Given the description of an element on the screen output the (x, y) to click on. 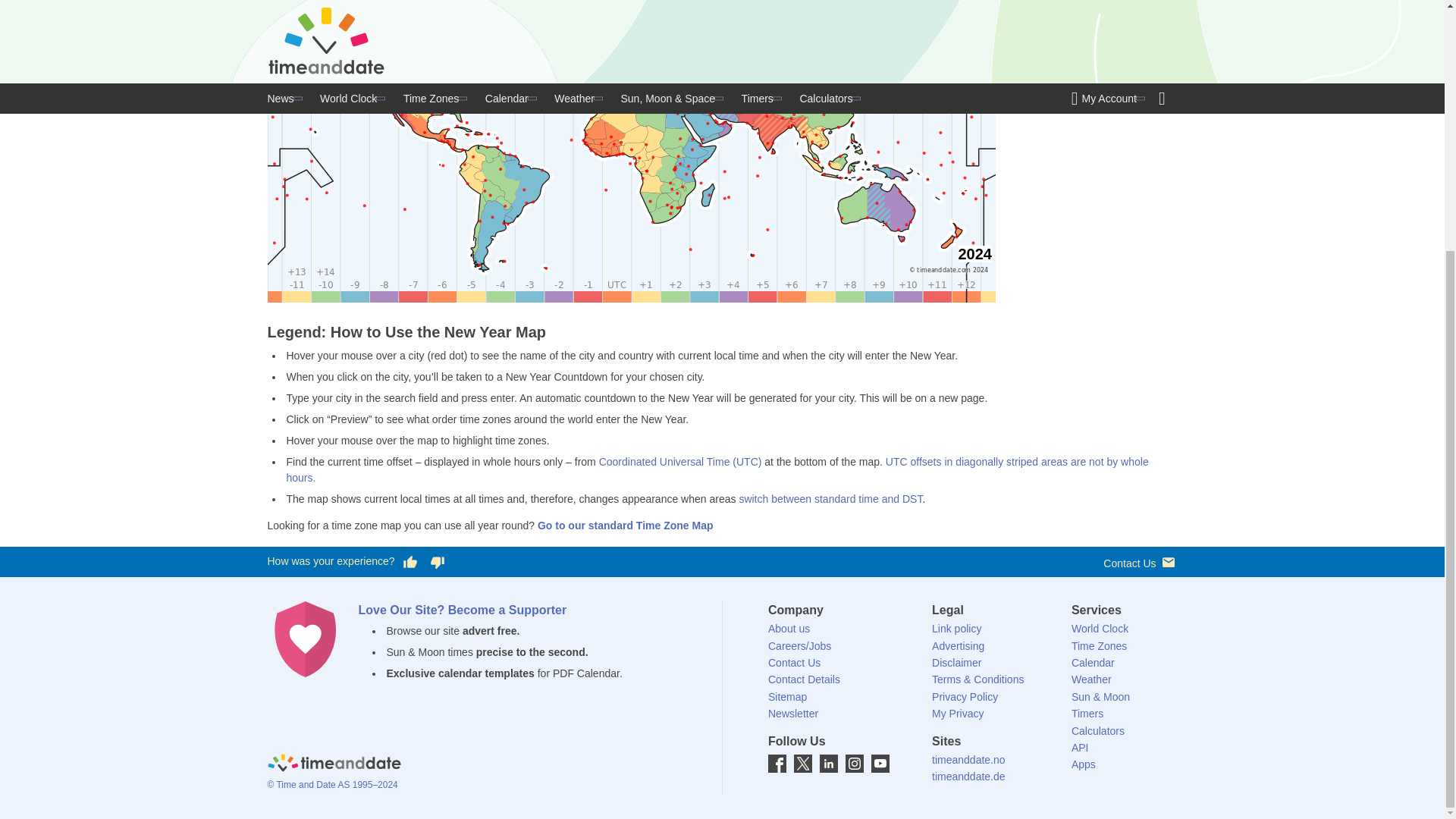
timeanddate.com on Twitter (802, 763)
timeanddate.com on YouTube (879, 763)
timeanddate.com on Facebook (777, 763)
timeanddate.com on Instagram (854, 763)
timeanddate.com on Linkedin (828, 763)
